Given the description of an element on the screen output the (x, y) to click on. 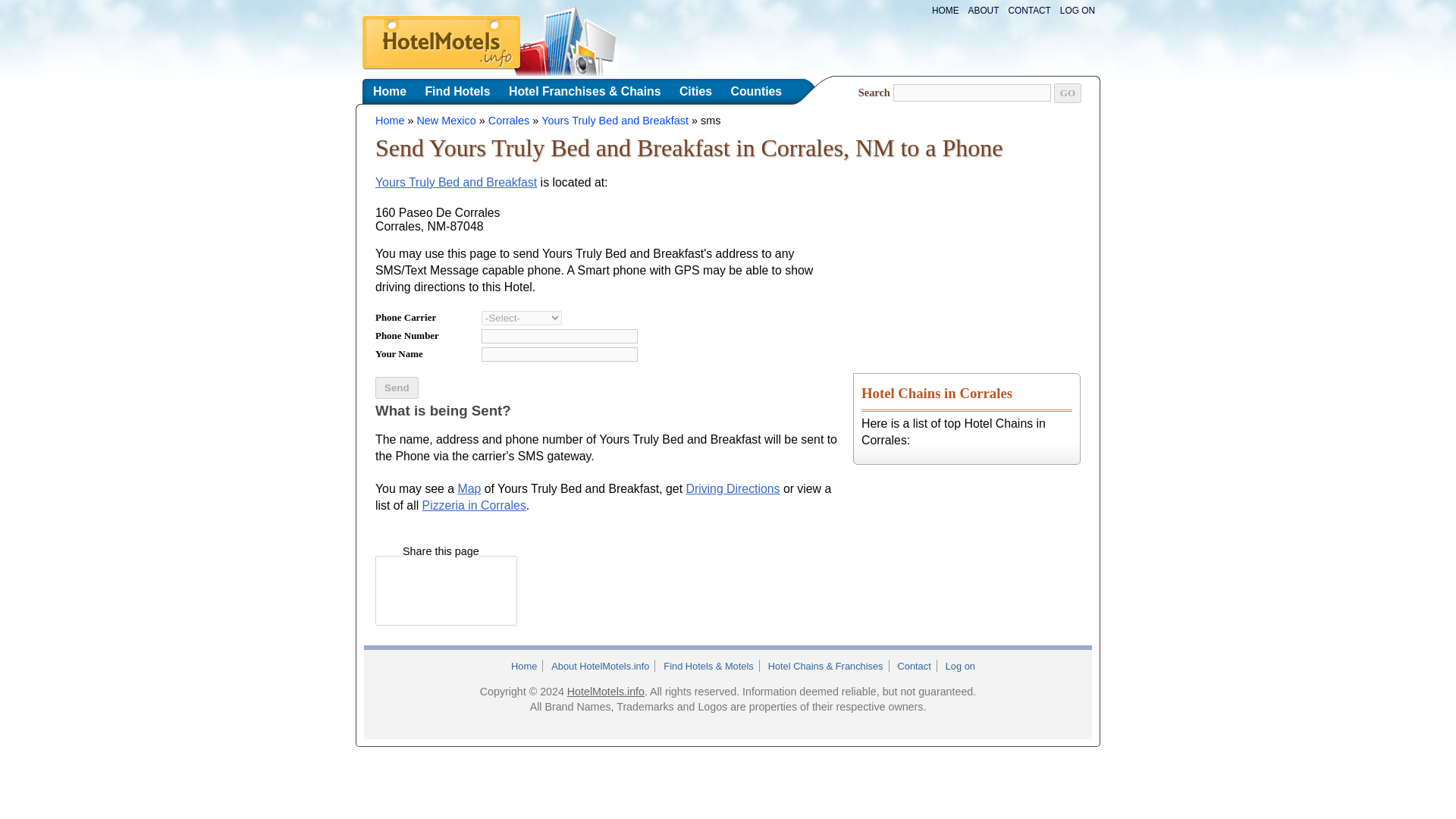
About HotelMotels.info (599, 665)
Yours Truly Bed and Breakfast (614, 120)
Advertisement (804, 590)
Pizzeria in Corrales (473, 504)
GO (1067, 93)
Corrales (508, 120)
Yours Truly Bed and Breakfast (456, 182)
Send (397, 387)
Driving Directions (731, 488)
Advertisement (966, 257)
CONTACT (1028, 9)
Map (469, 488)
Contact (913, 665)
Hotel Chains in Corrales (936, 392)
Enter address, city, county, zip... (972, 92)
